Given the description of an element on the screen output the (x, y) to click on. 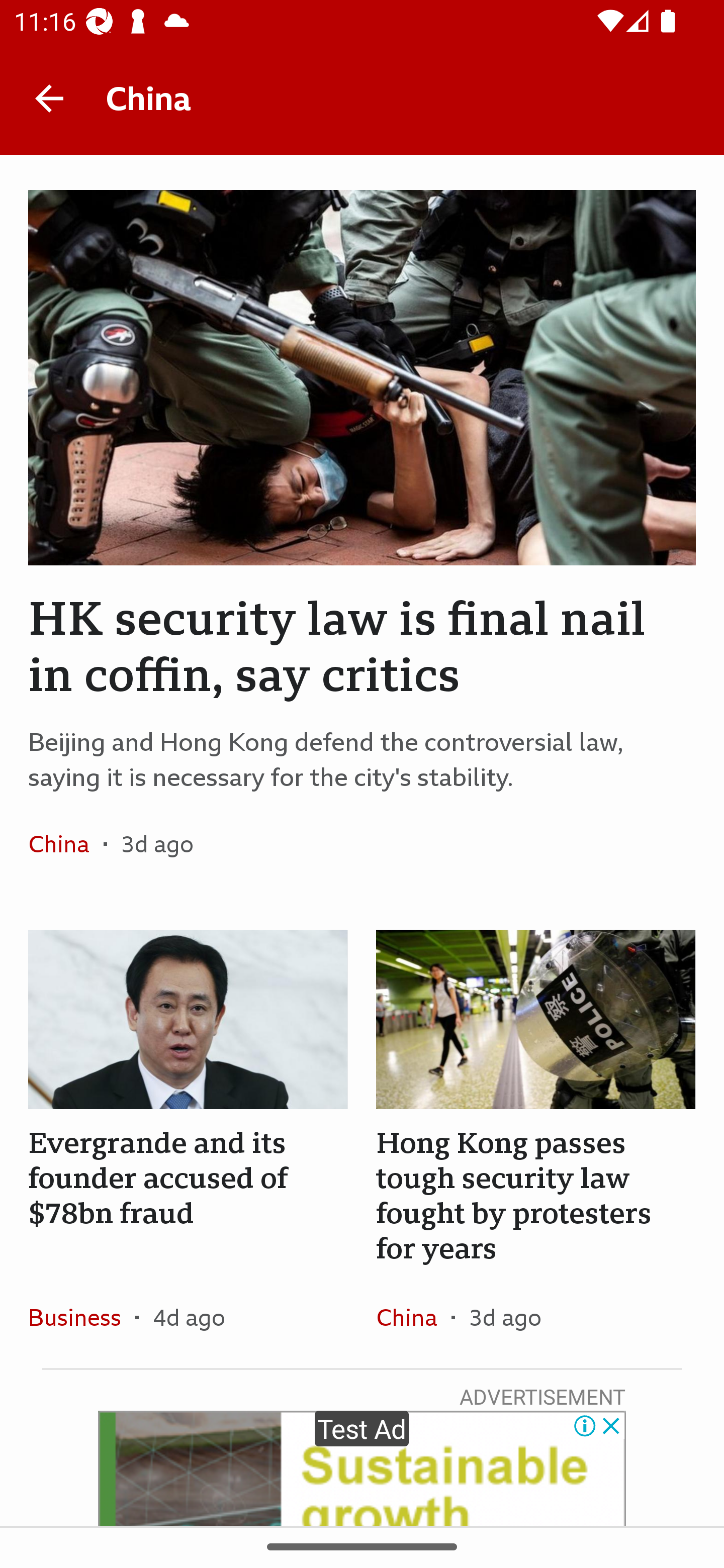
Back (49, 97)
China In the section China (65, 844)
Business In the section Business (81, 1316)
China In the section China (413, 1316)
